Given the description of an element on the screen output the (x, y) to click on. 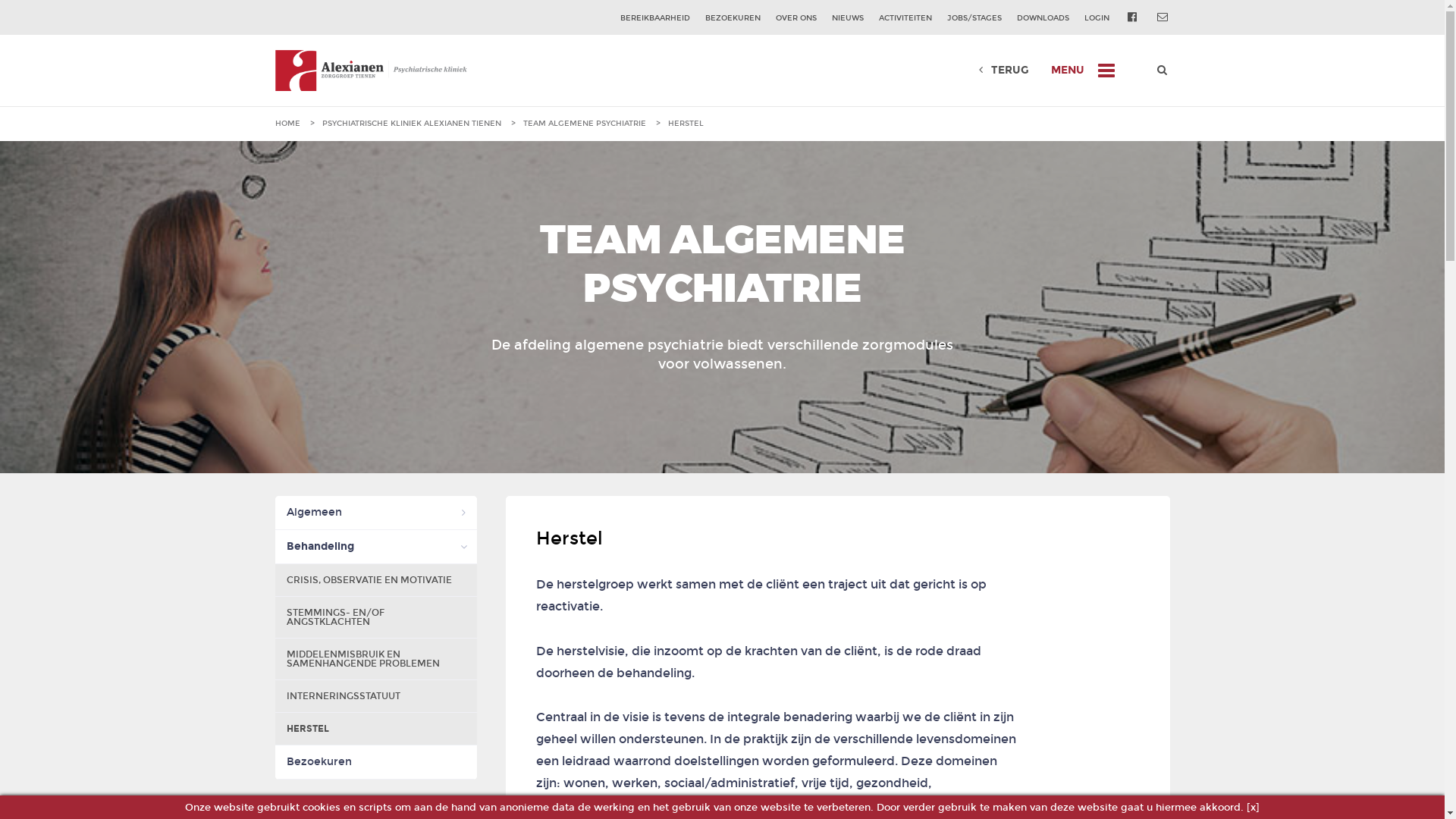
BEZOEKUREN Element type: text (732, 18)
Behandeling Element type: text (375, 547)
TEAM ALGEMENE PSYCHIATRIE Element type: text (584, 123)
CRISIS, OBSERVATIE EN MOTIVATIE Element type: text (375, 580)
NIEUWS Element type: text (847, 18)
LOGIN Element type: text (1096, 18)
STEMMINGS- EN/OF ANGSTKLACHTEN Element type: text (375, 617)
HERSTEL Element type: text (375, 728)
AFDELINGSLEIDING Element type: text (375, 578)
Bezoekuren Element type: text (375, 762)
DOWNLOADS Element type: text (1042, 18)
VISIE Element type: text (375, 546)
FAMILIE Element type: text (375, 611)
Algemeen Element type: text (375, 512)
MENU Element type: text (1067, 69)
TERUG Element type: text (1000, 69)
OVER ONS Element type: text (795, 18)
INTERNERINGSSTATUUT Element type: text (375, 696)
ACTIVITEITEN Element type: text (904, 18)
HOME Element type: text (286, 123)
PSYCHIATRISCHE KLINIEK ALEXIANEN TIENEN Element type: text (410, 123)
MIDDELENMISBRUIK EN SAMENHANGENDE PROBLEMEN Element type: text (375, 659)
BEREIKBAARHEID Element type: text (655, 18)
JOBS/STAGES Element type: text (974, 18)
